Given the description of an element on the screen output the (x, y) to click on. 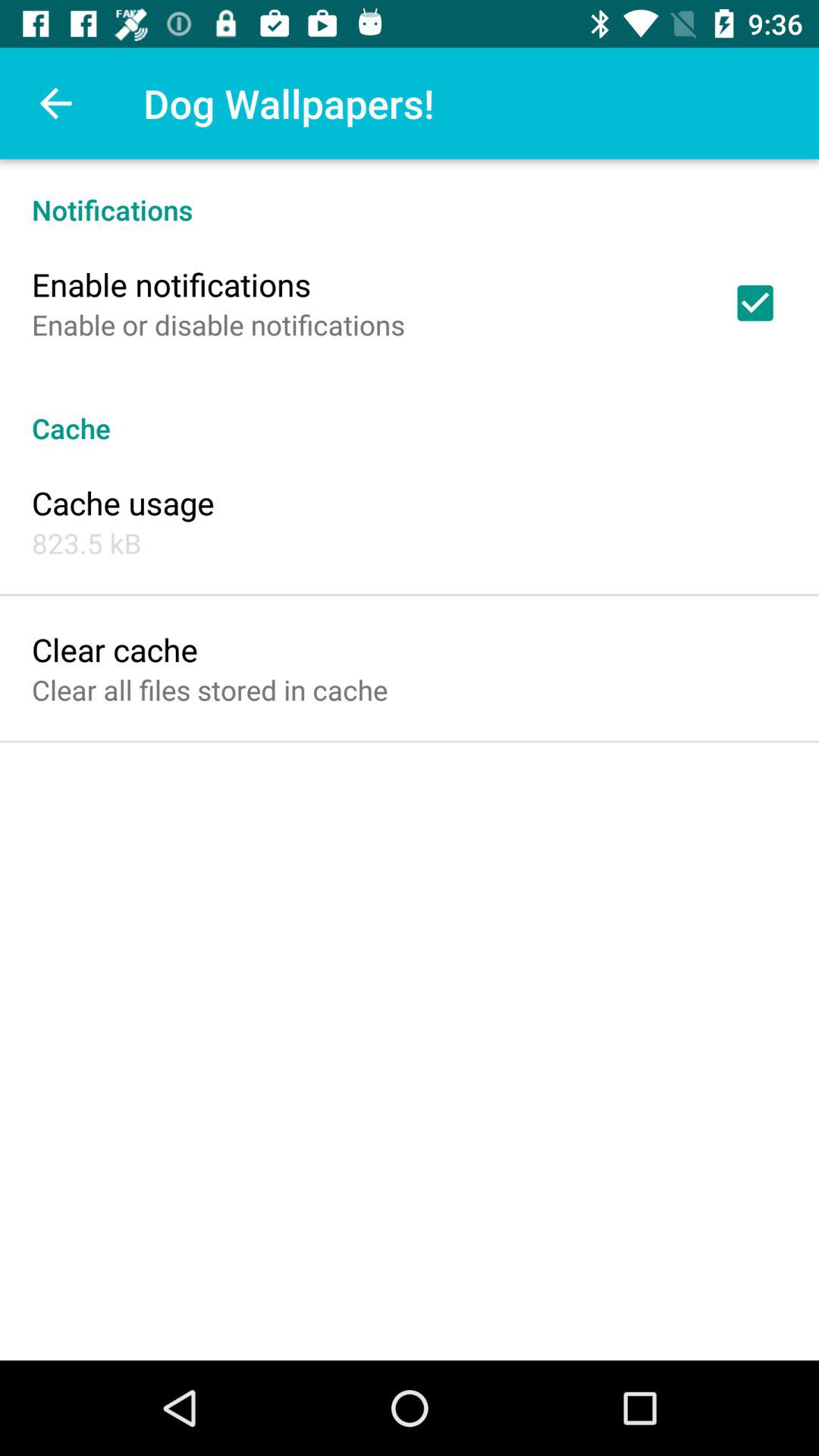
swipe until clear all files (209, 689)
